Given the description of an element on the screen output the (x, y) to click on. 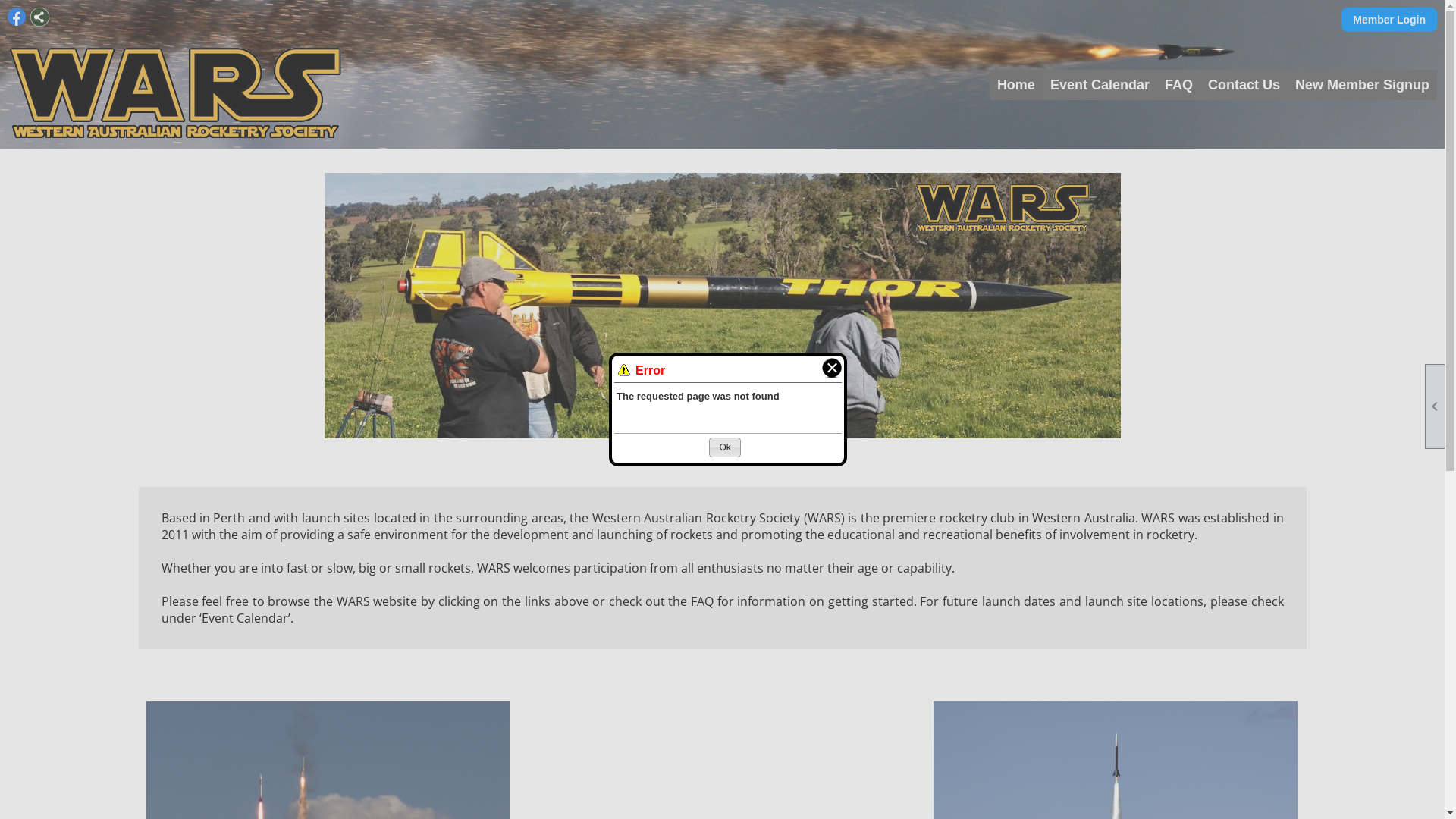
FAQ Element type: text (1178, 84)
Visit us on Facebook Element type: hover (16, 16)
Home Element type: text (1015, 84)
Contact Us Element type: text (1243, 84)
Click here for more sharing options Element type: hover (39, 16)
Event Calendar Element type: text (1099, 84)
Ok Element type: text (724, 447)
New Member Signup Element type: text (1362, 84)
Member Login Element type: text (1389, 19)
Close Element type: text (827, 367)
